Given the description of an element on the screen output the (x, y) to click on. 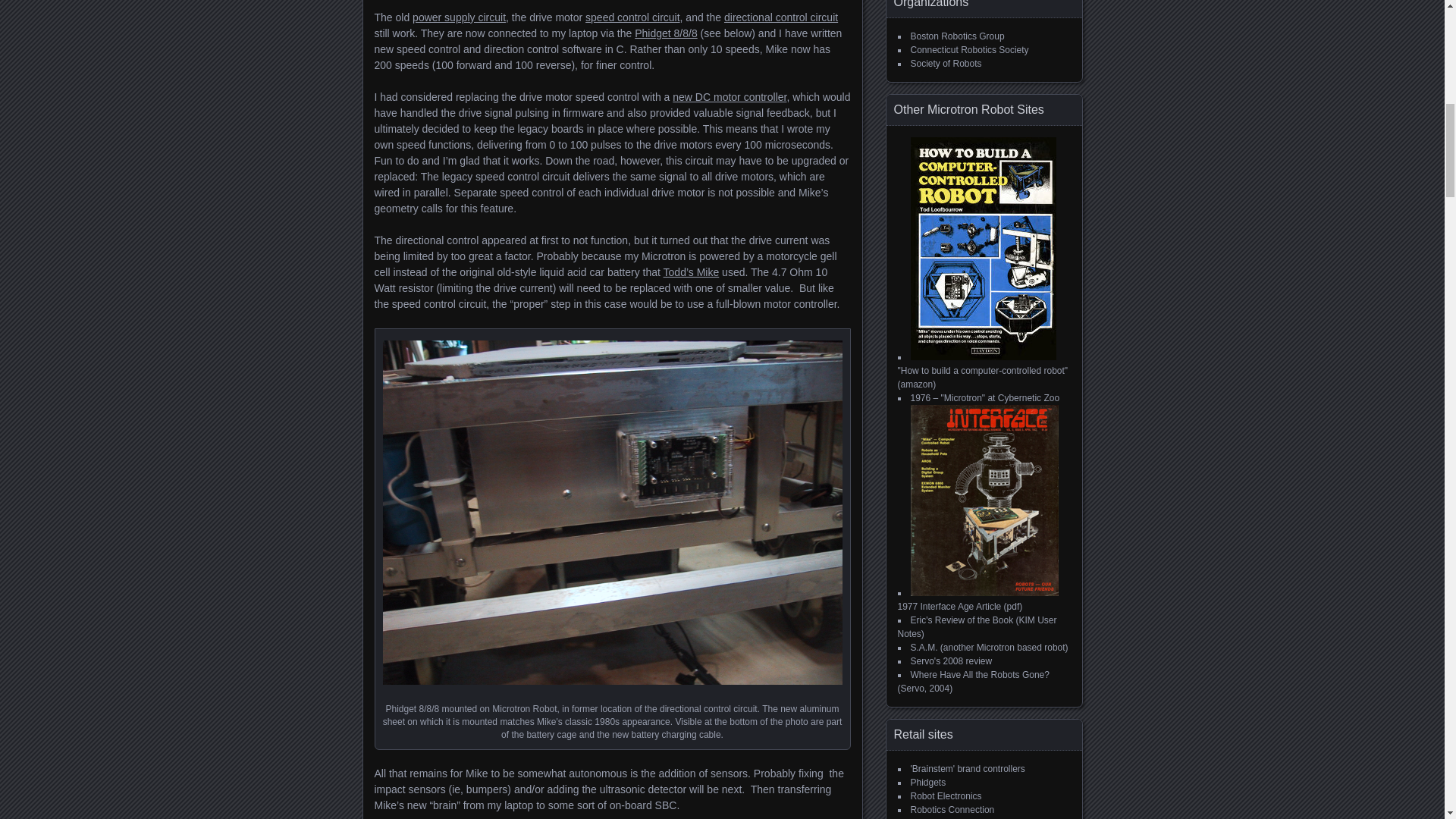
directional control circuit (780, 17)
new DC motor controller (729, 96)
power supply circuit (458, 17)
speed control circuit (632, 17)
